Given the description of an element on the screen output the (x, y) to click on. 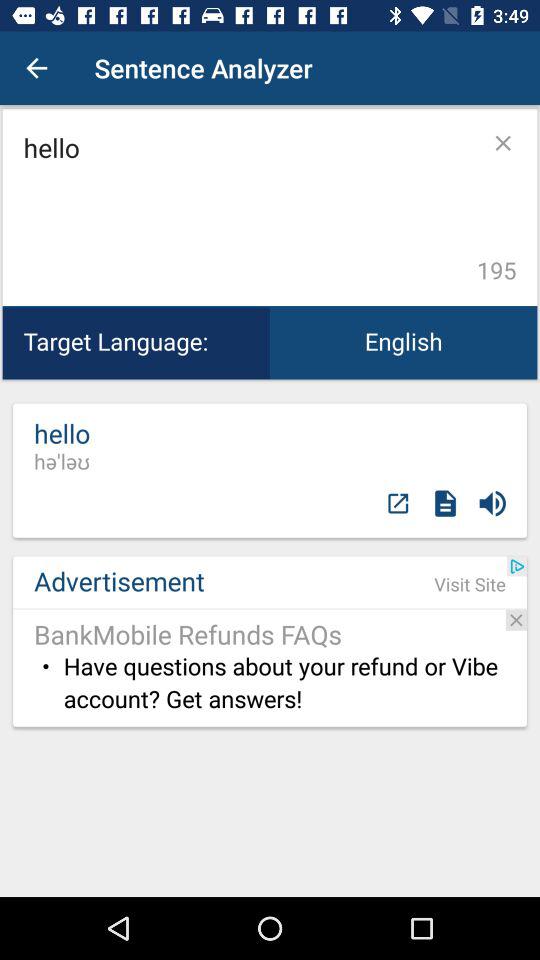
turn off the english icon (403, 342)
